Given the description of an element on the screen output the (x, y) to click on. 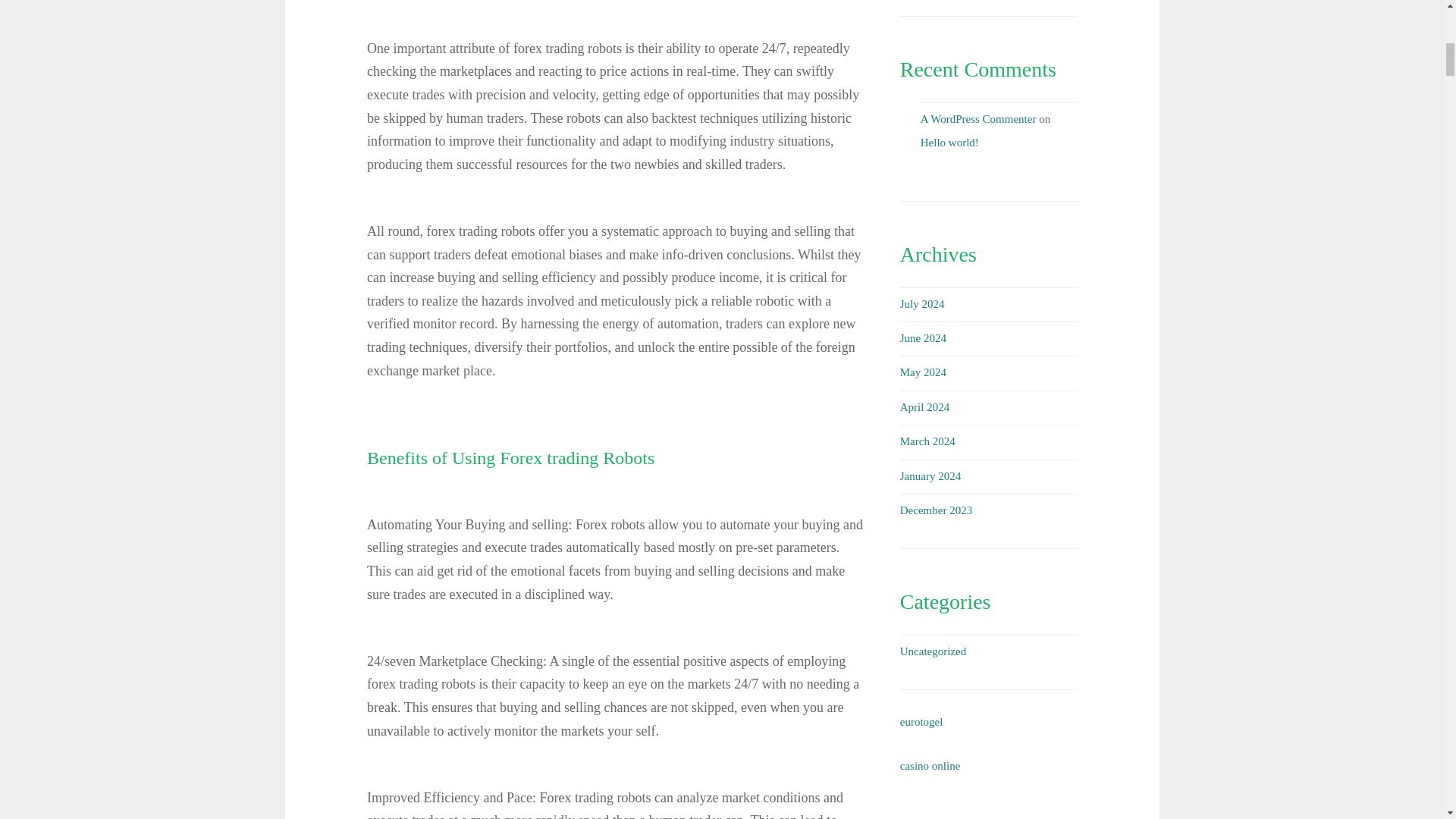
Uncategorized (932, 651)
May 2024 (922, 372)
March 2024 (927, 440)
eurotogel (921, 721)
June 2024 (922, 337)
casino online (929, 766)
April 2024 (924, 407)
January 2024 (929, 476)
July 2024 (921, 304)
A WordPress Commenter (978, 118)
Hello world! (949, 142)
December 2023 (935, 510)
